Given the description of an element on the screen output the (x, y) to click on. 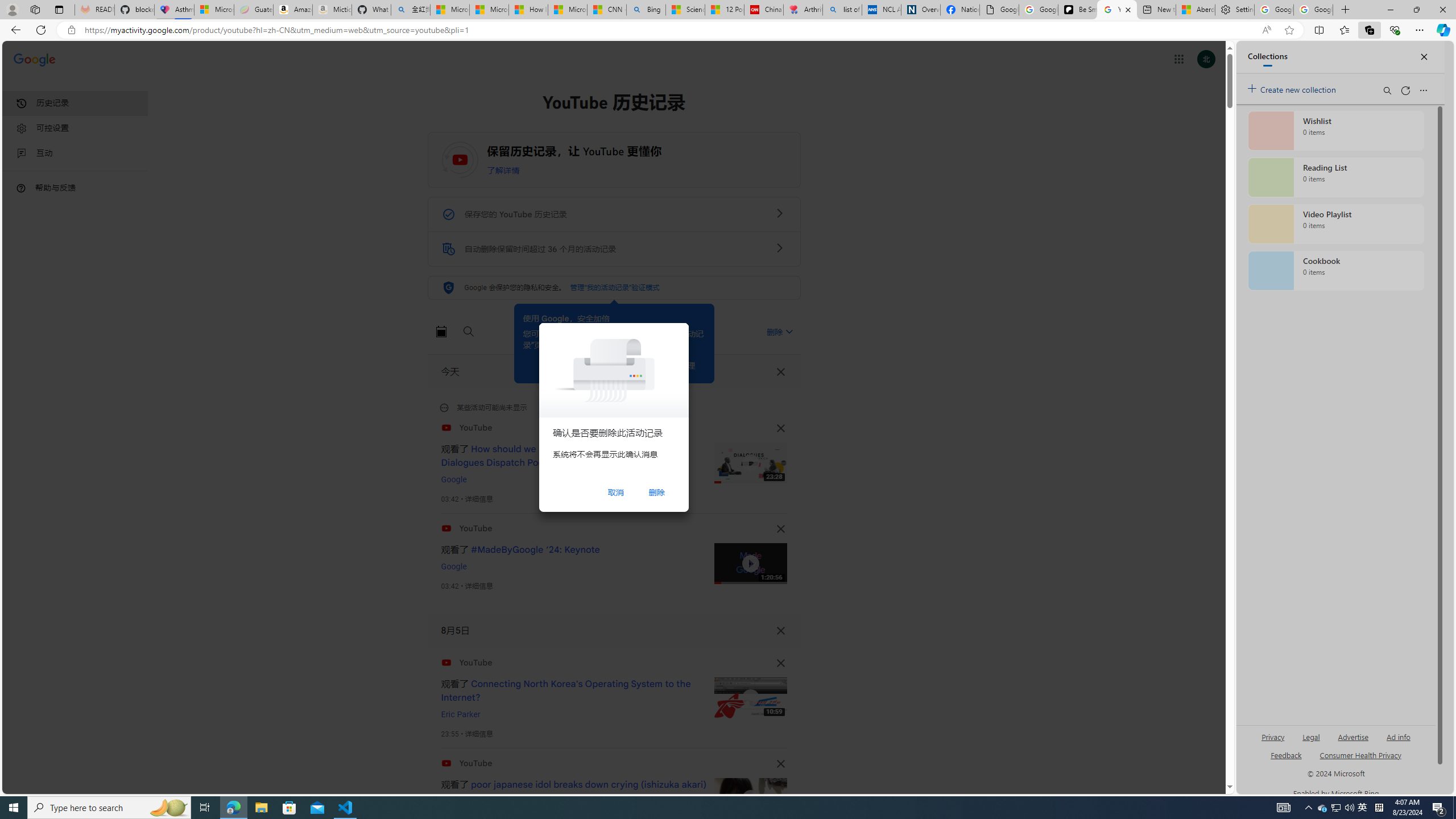
CNN - MSN (606, 9)
